Given the description of an element on the screen output the (x, y) to click on. 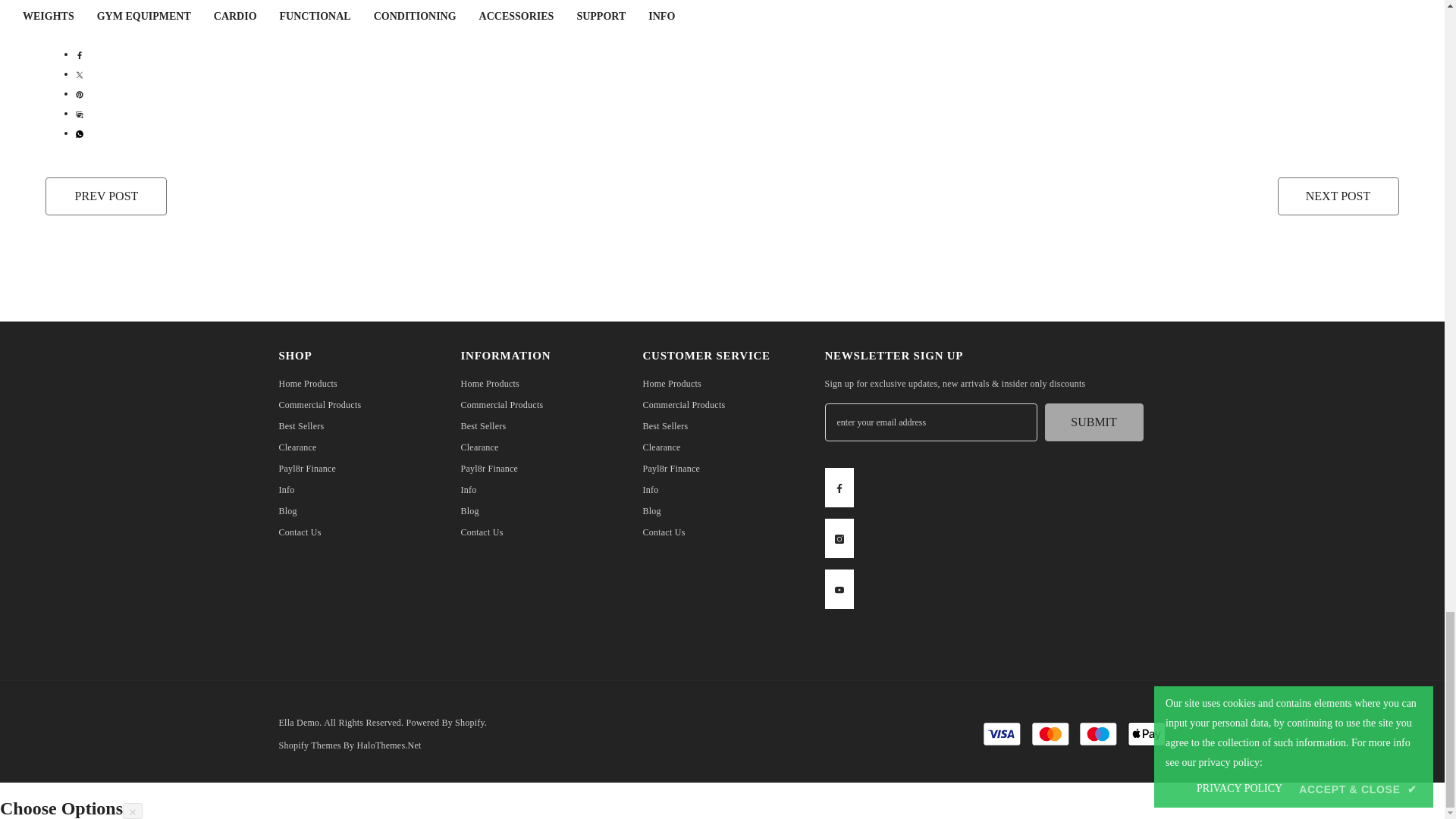
Apple Pay (1146, 733)
Maestro (1098, 733)
Visa (1001, 733)
Mastercard (1050, 733)
